Given the description of an element on the screen output the (x, y) to click on. 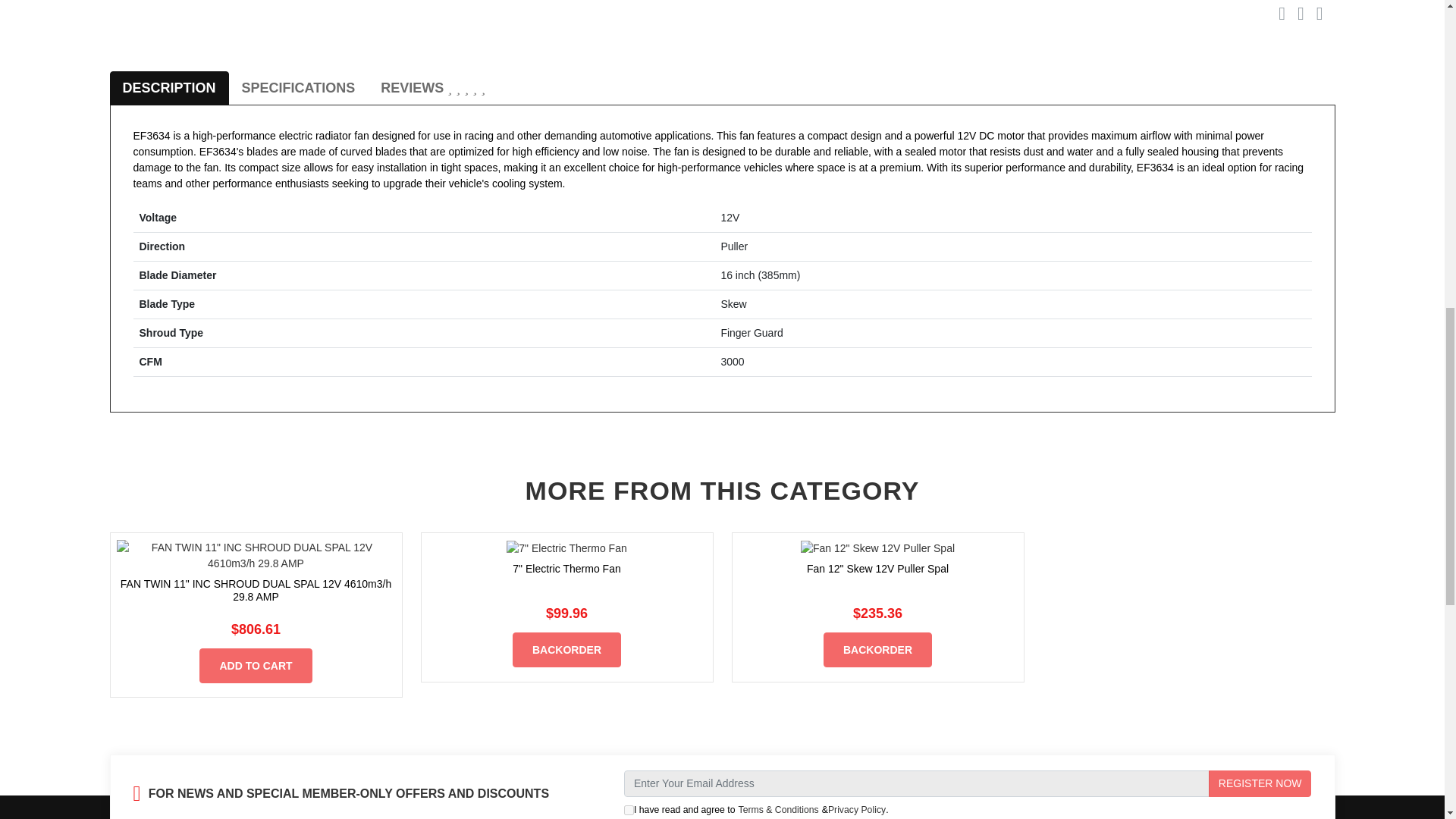
Add 7" Electric Thermo Fan to Cart (566, 649)
REGISTER NOW (1259, 783)
Add Fan 12" Skew 12V Puller Spal to Cart (877, 649)
y (628, 809)
